Given the description of an element on the screen output the (x, y) to click on. 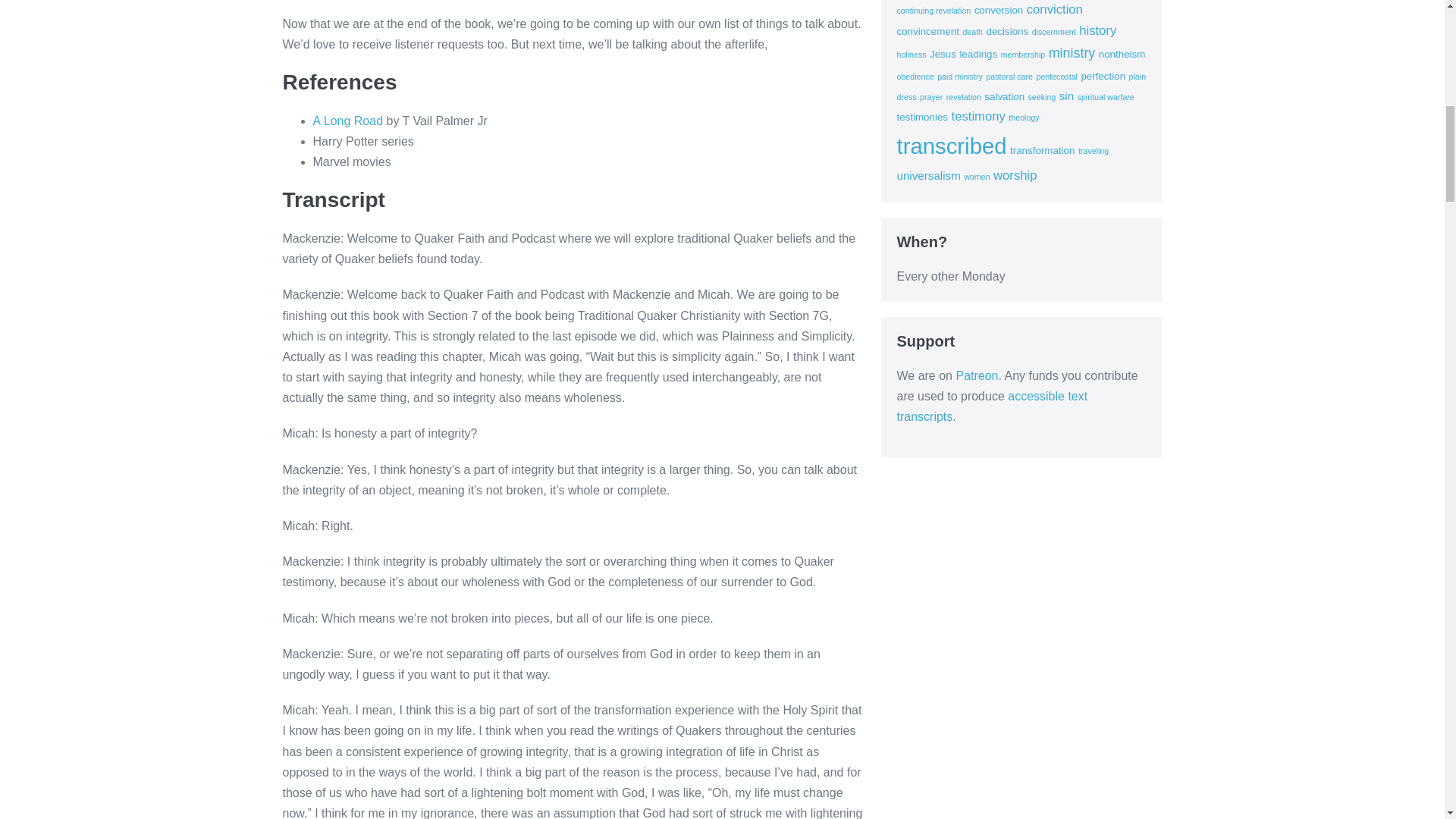
A Long Road (347, 120)
